Given the description of an element on the screen output the (x, y) to click on. 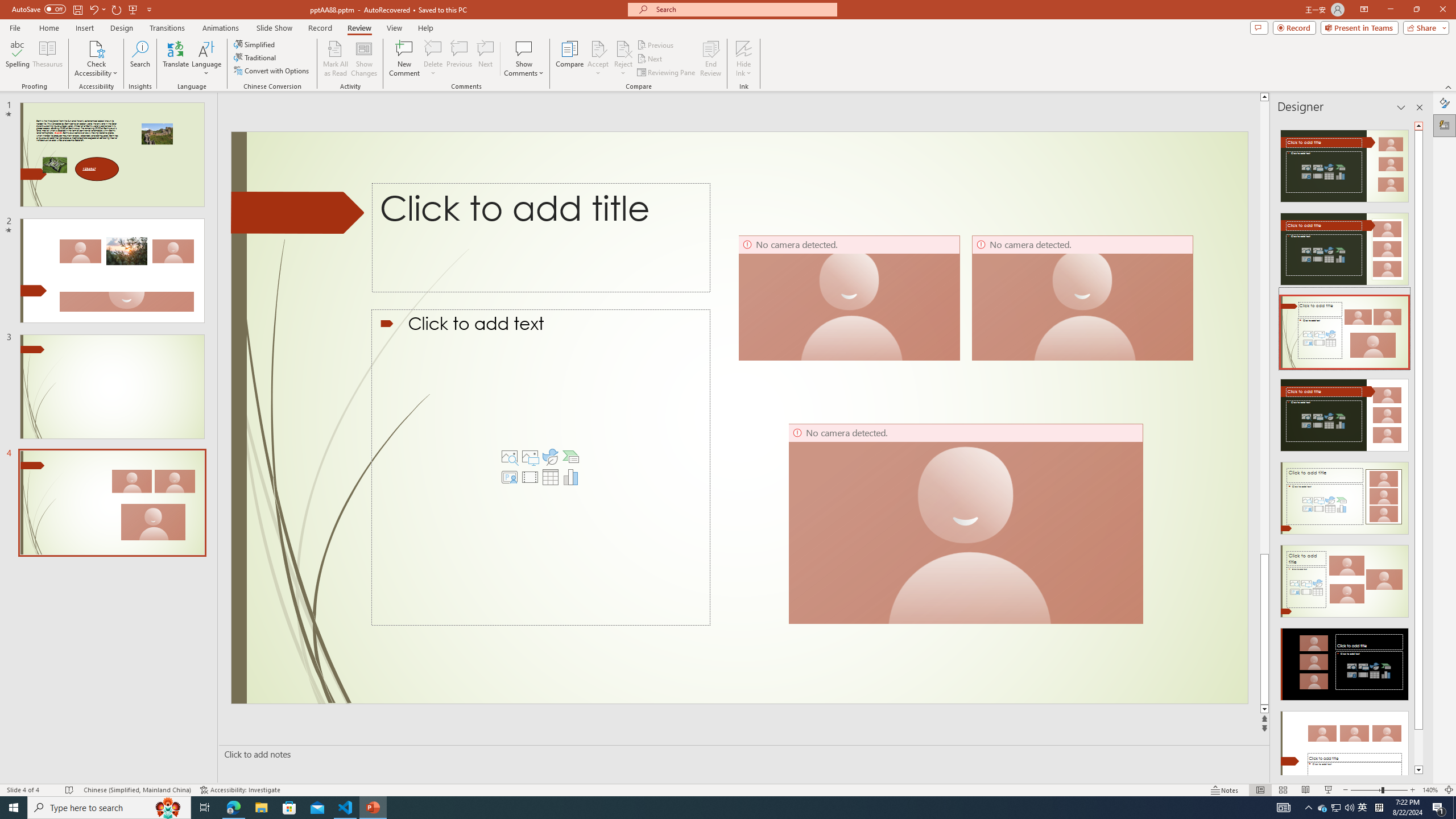
Thesaurus... (47, 58)
Show Comments (524, 48)
Next (649, 58)
Recommended Design: Design Idea (1344, 162)
Delete (432, 58)
Content Placeholder (540, 467)
Title TextBox (574, 229)
Reject (622, 58)
